Given the description of an element on the screen output the (x, y) to click on. 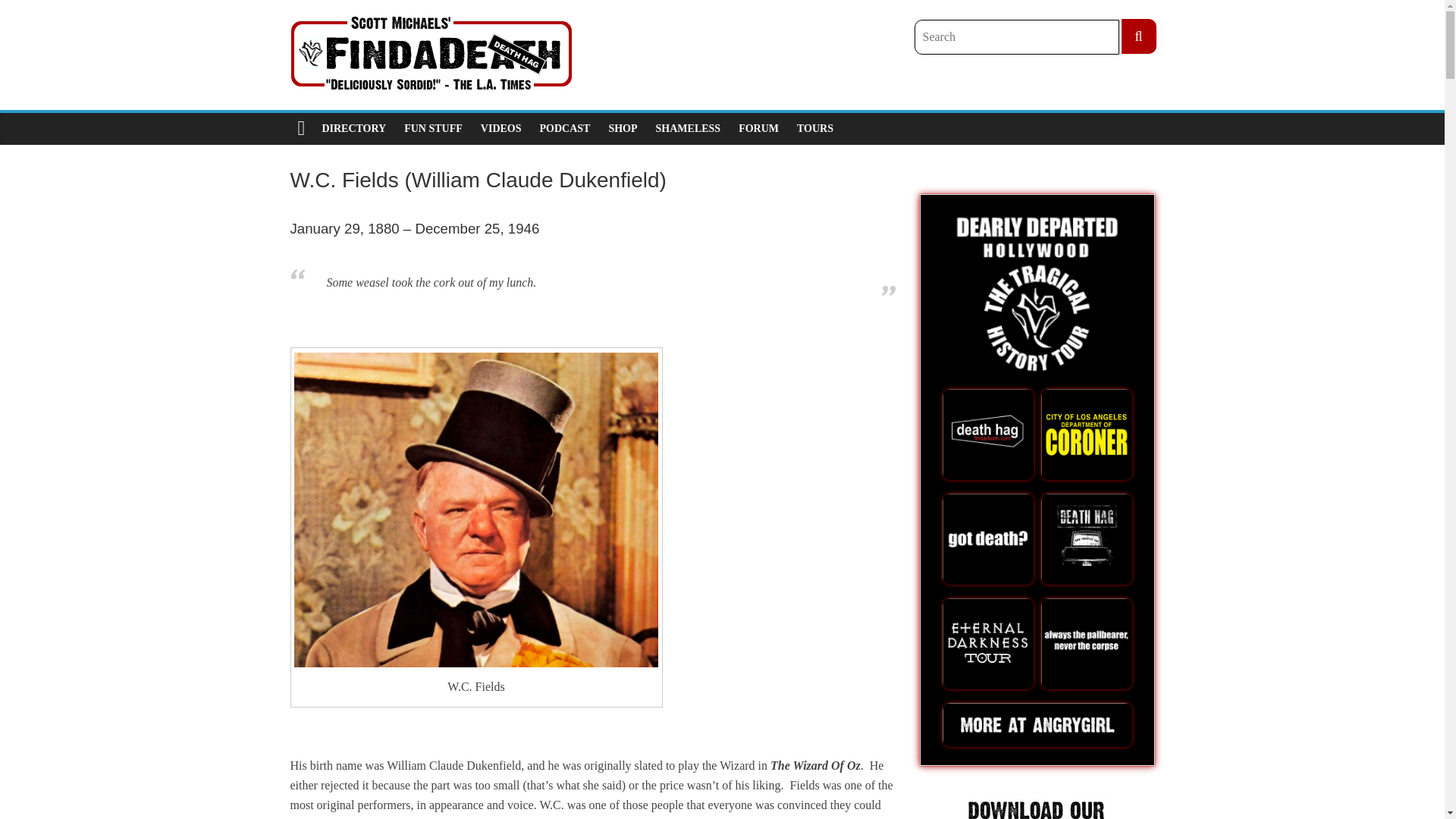
DIRECTORY (353, 128)
FORUM (758, 128)
PODCAST (565, 128)
FUN STUFF (432, 128)
TOURS (815, 128)
SHOP (622, 128)
SHAMELESS (688, 128)
VIDEOS (501, 128)
